Given the description of an element on the screen output the (x, y) to click on. 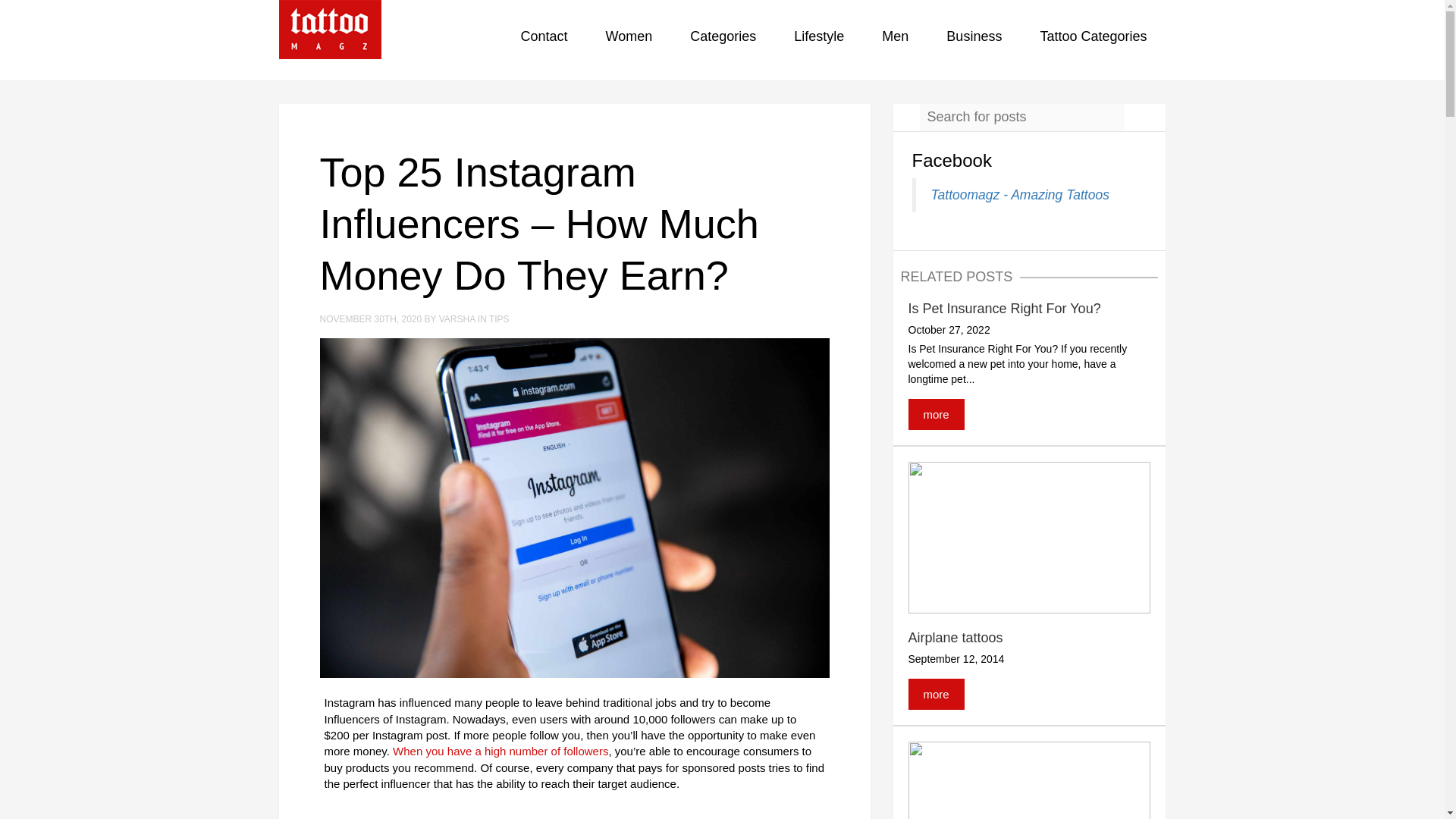
6:56 am (372, 318)
Categories (722, 39)
Men (895, 39)
Contact (544, 39)
Business (973, 39)
Women (628, 39)
View all posts by varsha (458, 318)
Lifestyle (819, 39)
NOVEMBER 30TH, 2020 (372, 318)
Tattoo Categories (1092, 39)
VARSHA (458, 318)
When you have a high number of followers (500, 750)
TIPS (499, 318)
